Given the description of an element on the screen output the (x, y) to click on. 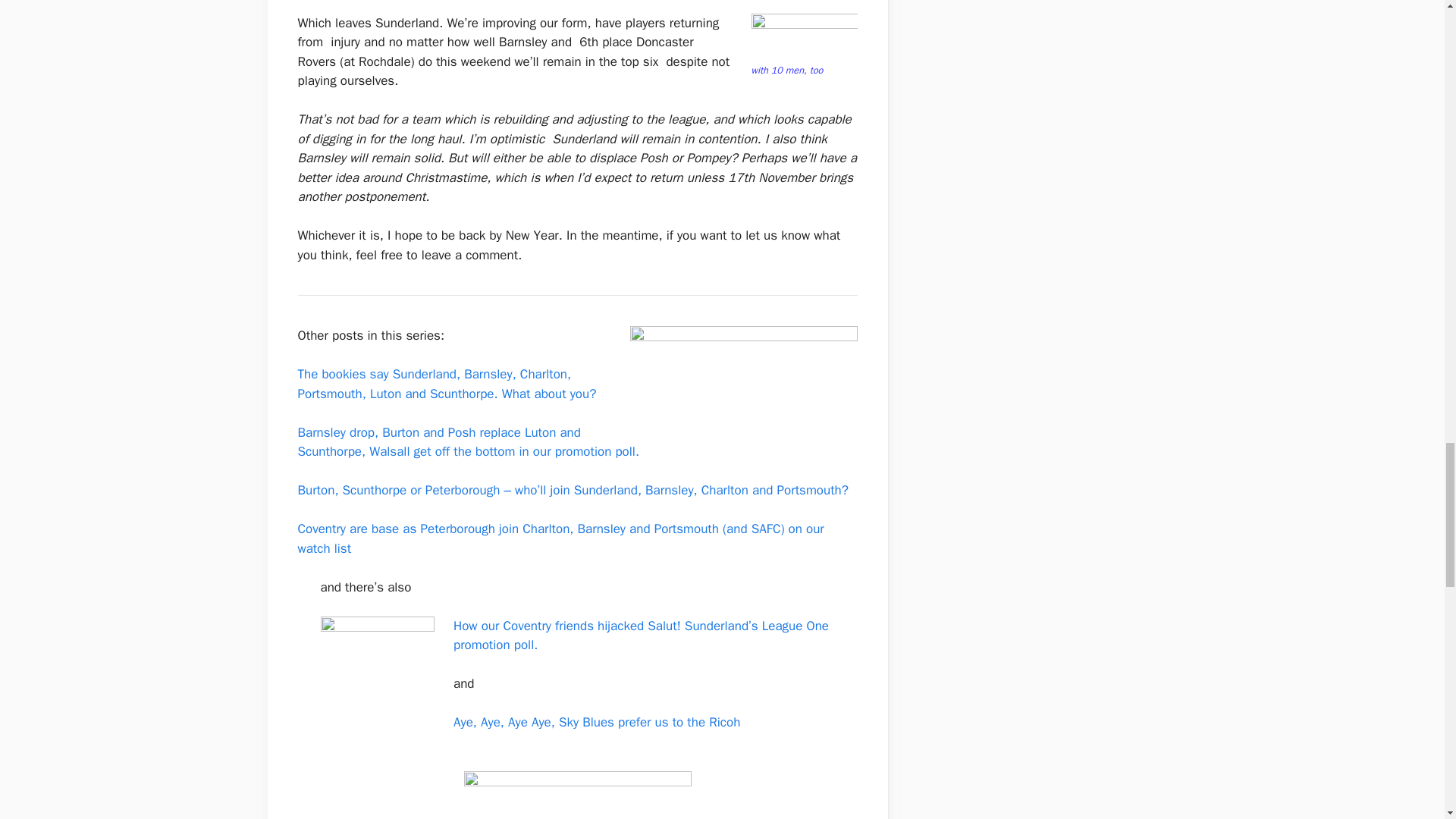
Aye, Aye, Aye Aye, Sky Blues prefer us to the Ricoh (595, 722)
